Given the description of an element on the screen output the (x, y) to click on. 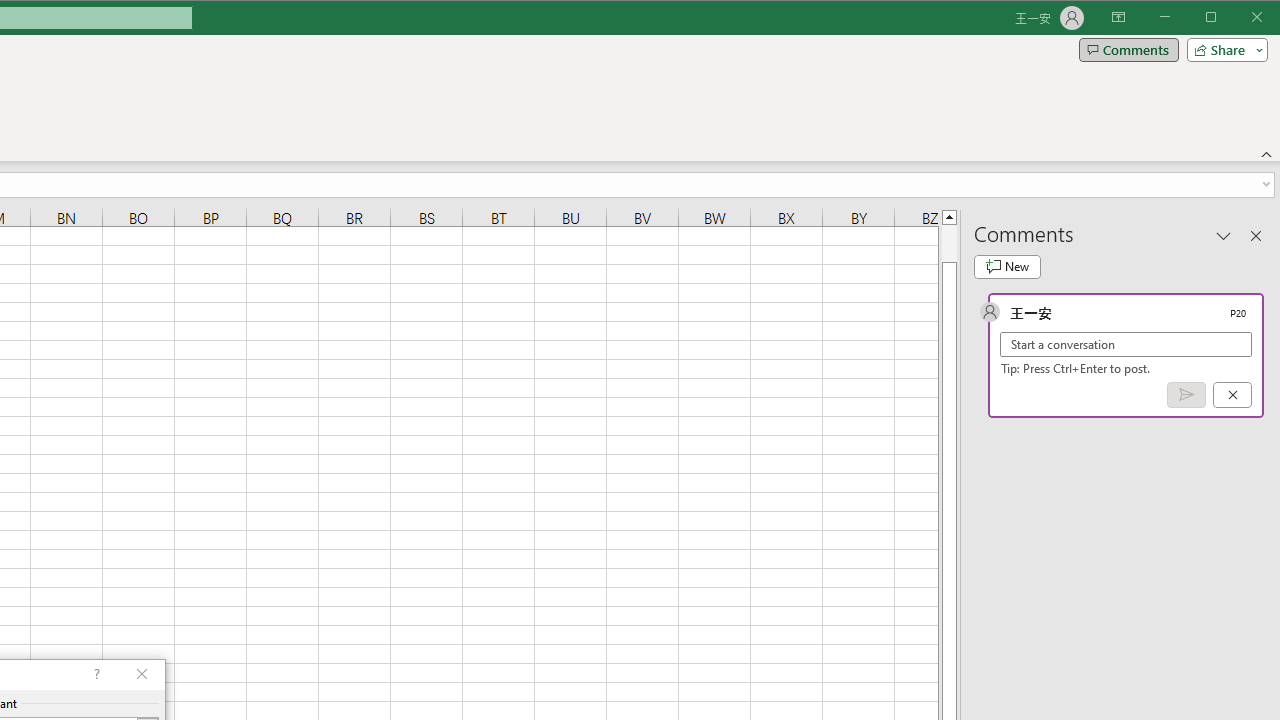
New comment (1007, 266)
Task Pane Options (1224, 235)
Maximize (1239, 18)
Close pane (1256, 235)
Page up (948, 243)
Cancel (1232, 395)
Post comment (Ctrl + Enter) (1186, 395)
Start a conversation (1126, 344)
